Given the description of an element on the screen output the (x, y) to click on. 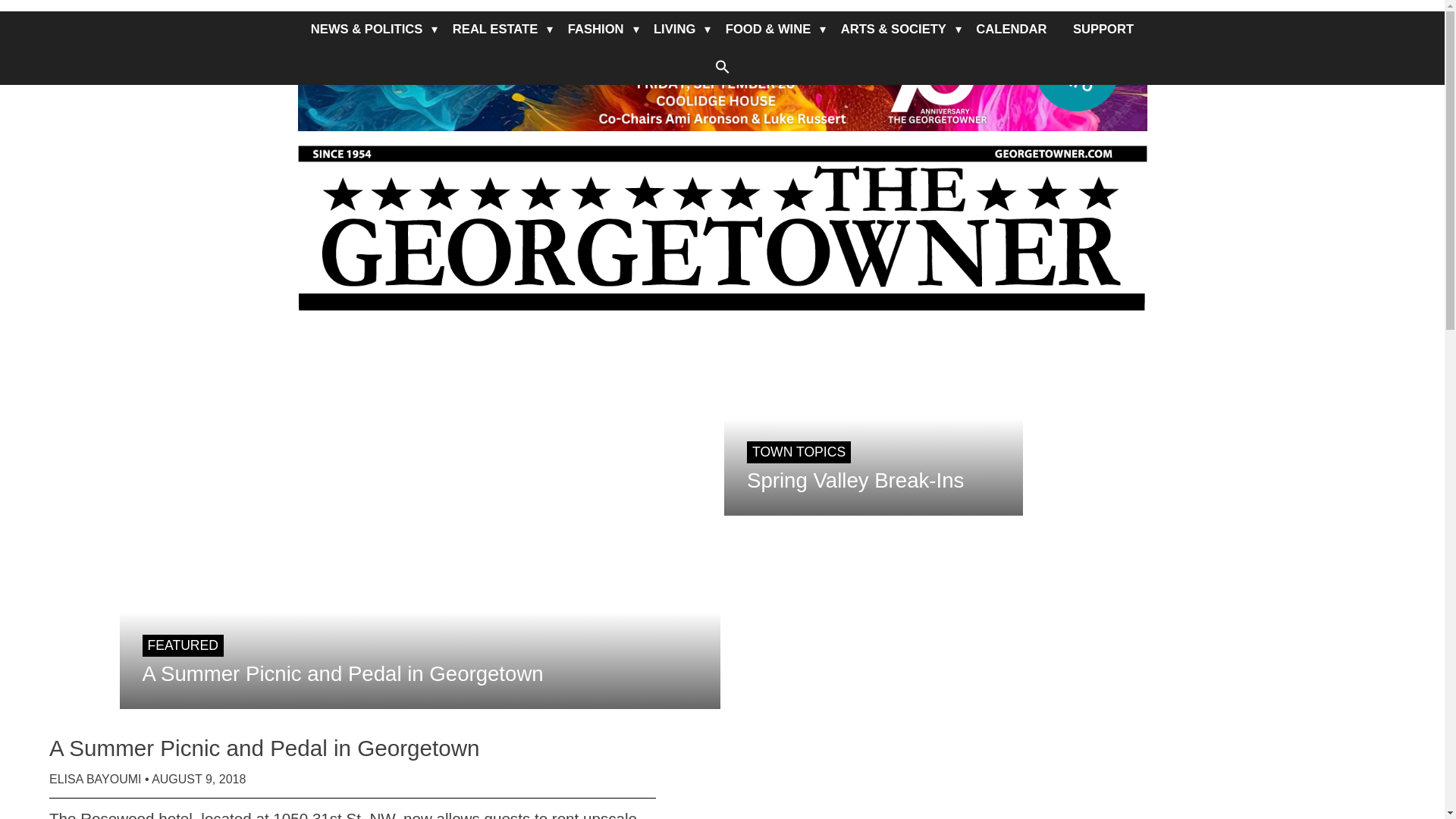
FASHION (595, 29)
REAL ESTATE (494, 29)
SUPPORT (1102, 29)
Posts by Elisa Bayoumi (95, 779)
CAG EVENT 2024 BANNER FINAL (722, 65)
LIVING (674, 29)
CALENDAR (1010, 29)
